Given the description of an element on the screen output the (x, y) to click on. 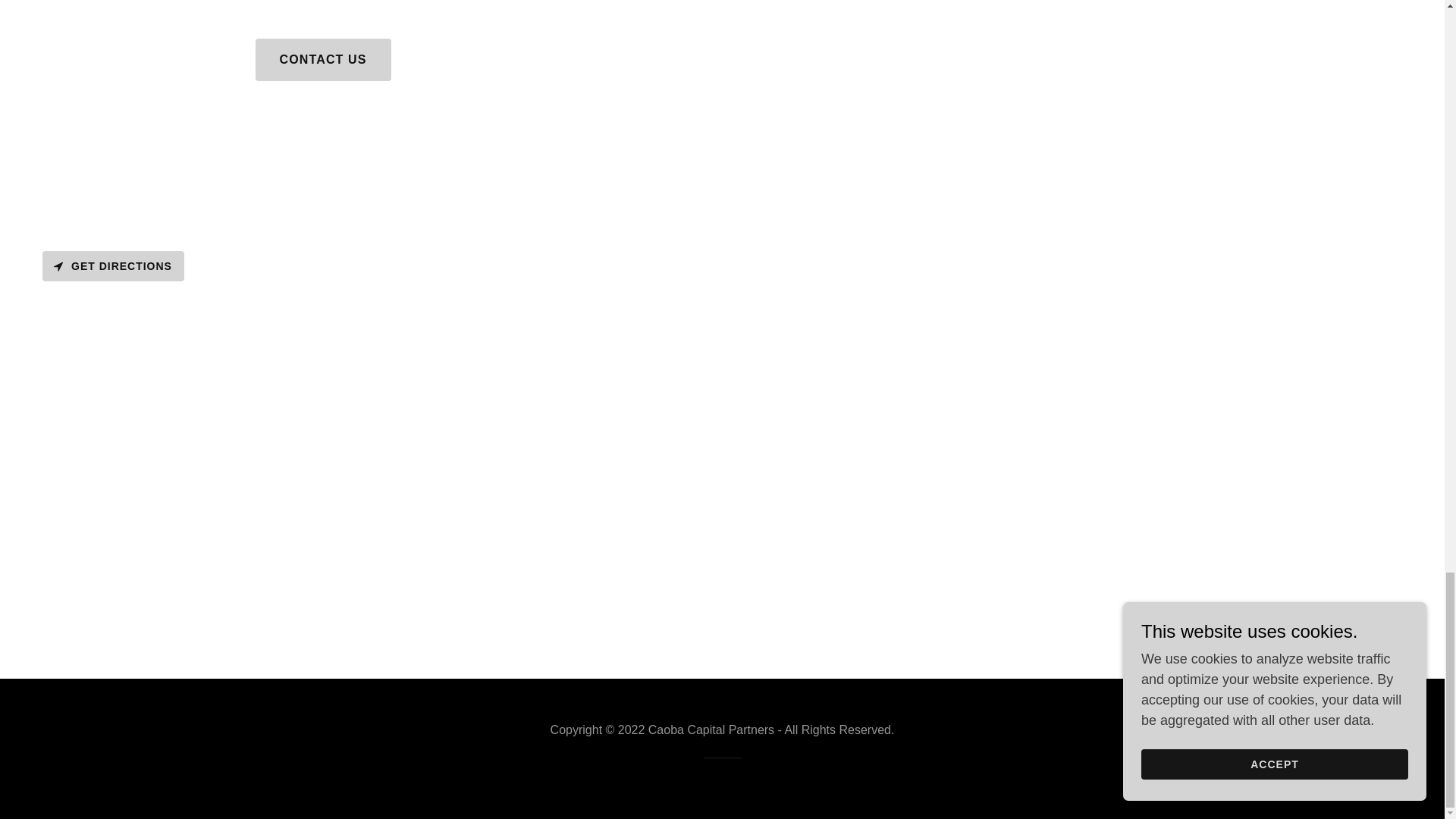
GET DIRECTIONS (113, 265)
CONTACT US (322, 59)
